Given the description of an element on the screen output the (x, y) to click on. 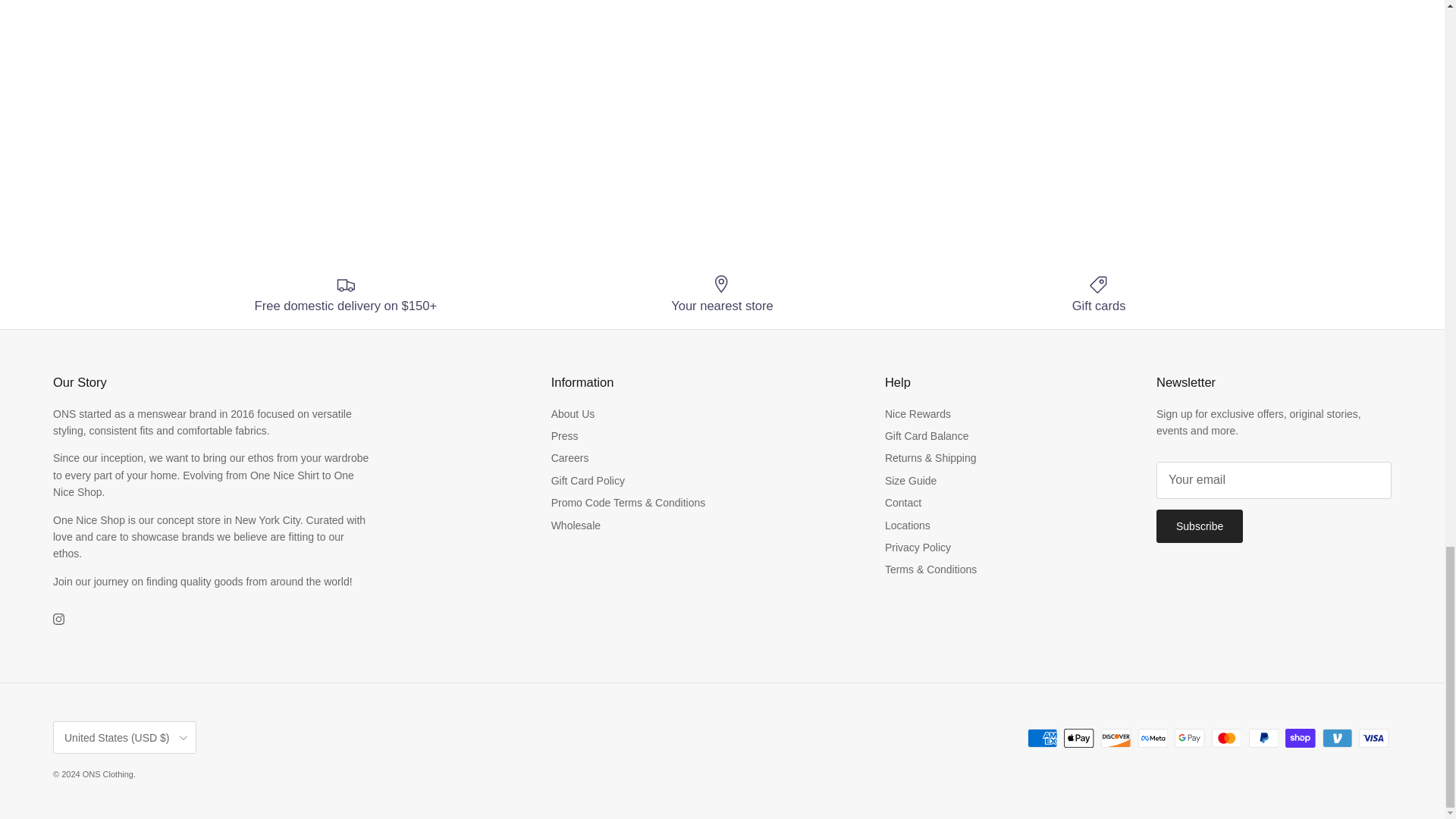
Apple Pay (1078, 737)
American Express (1042, 737)
ONS Clothing on Instagram (58, 618)
